Given the description of an element on the screen output the (x, y) to click on. 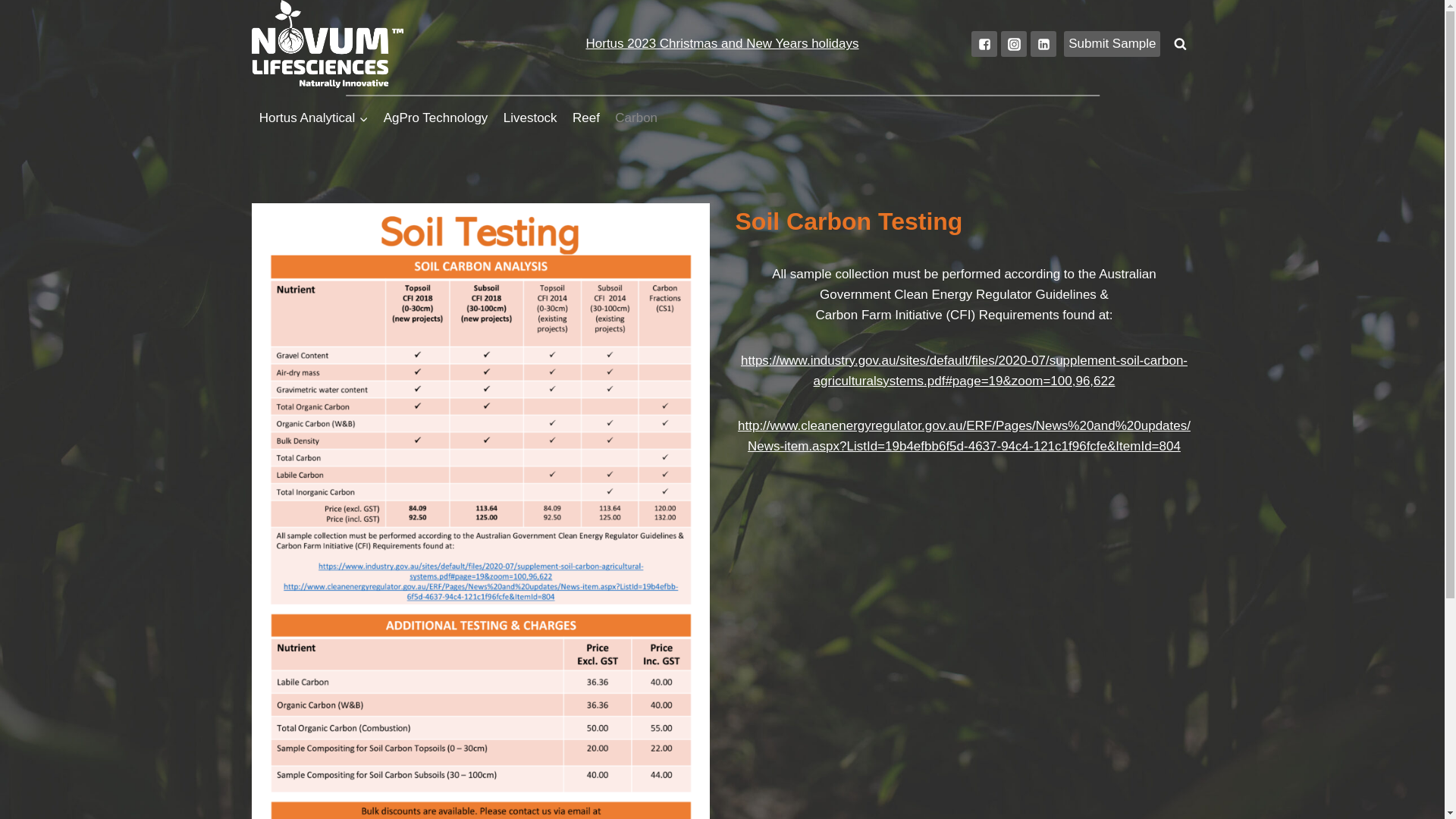
Hortus Analytical Element type: text (313, 118)
Livestock Element type: text (529, 118)
Reef Element type: text (585, 118)
Carbon Element type: text (636, 118)
AgPro Technology Element type: text (435, 118)
Hortus 2023 Christmas and New Years holidays Element type: text (721, 43)
Submit Sample Element type: text (1111, 43)
